Given the description of an element on the screen output the (x, y) to click on. 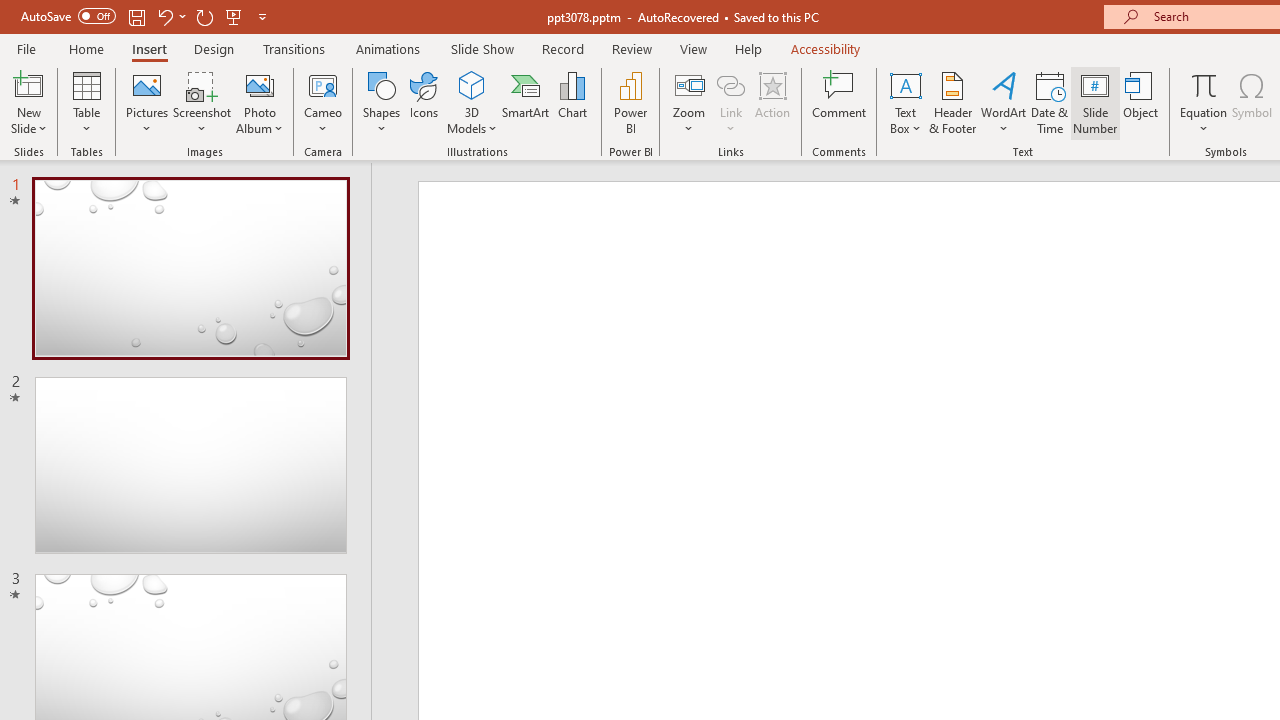
Action (772, 102)
New Photo Album... (259, 84)
Object... (1141, 102)
Draw Horizontal Text Box (905, 84)
